Given the description of an element on the screen output the (x, y) to click on. 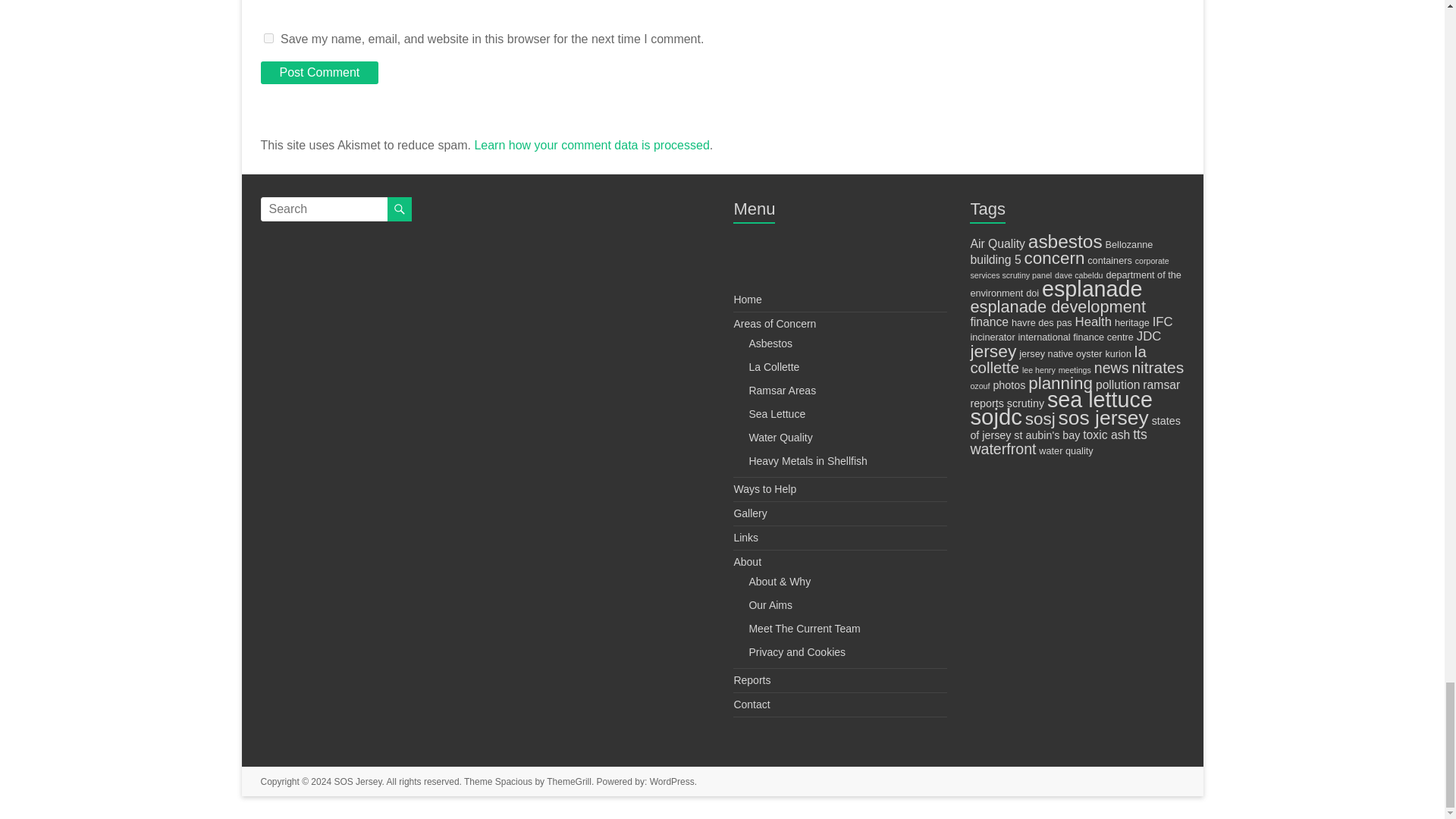
SOS Jersey (357, 780)
yes (268, 38)
Post Comment (319, 72)
Spacious (513, 780)
WordPress (671, 780)
